Given the description of an element on the screen output the (x, y) to click on. 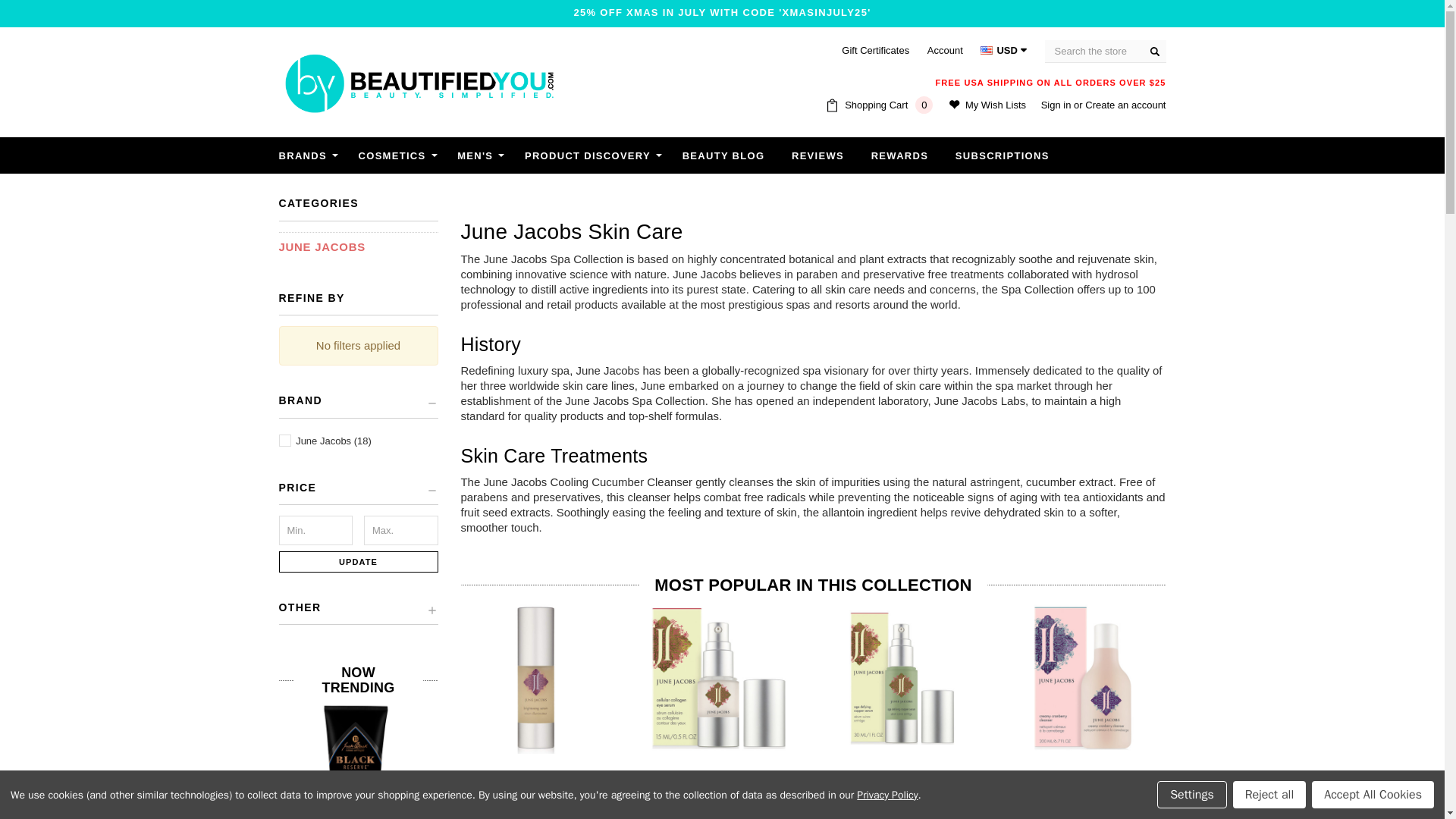
La Roche Posay Toleriane Double Repair Face Moisturizer (525, 760)
June Jacobs Creamy Cranberry Cleanser (1082, 677)
La Roche Posay Toleriane Double Repair Matte Moisturizer (858, 760)
June Jacobs Cellular Collagen Eye Serum (718, 677)
June Jacobs Age Defying Copper Serum (900, 677)
La Roche Posay Mela B3 Gel Cleanser (1192, 760)
BeautifiedYou.com (419, 83)
EltaMD UV Clear Broad-Spectrum SPF 46 (1025, 760)
La Roche Posay Mela B3 Dark Spot Serum (691, 760)
June Jacobs Brightening Serum (536, 677)
